Given the description of an element on the screen output the (x, y) to click on. 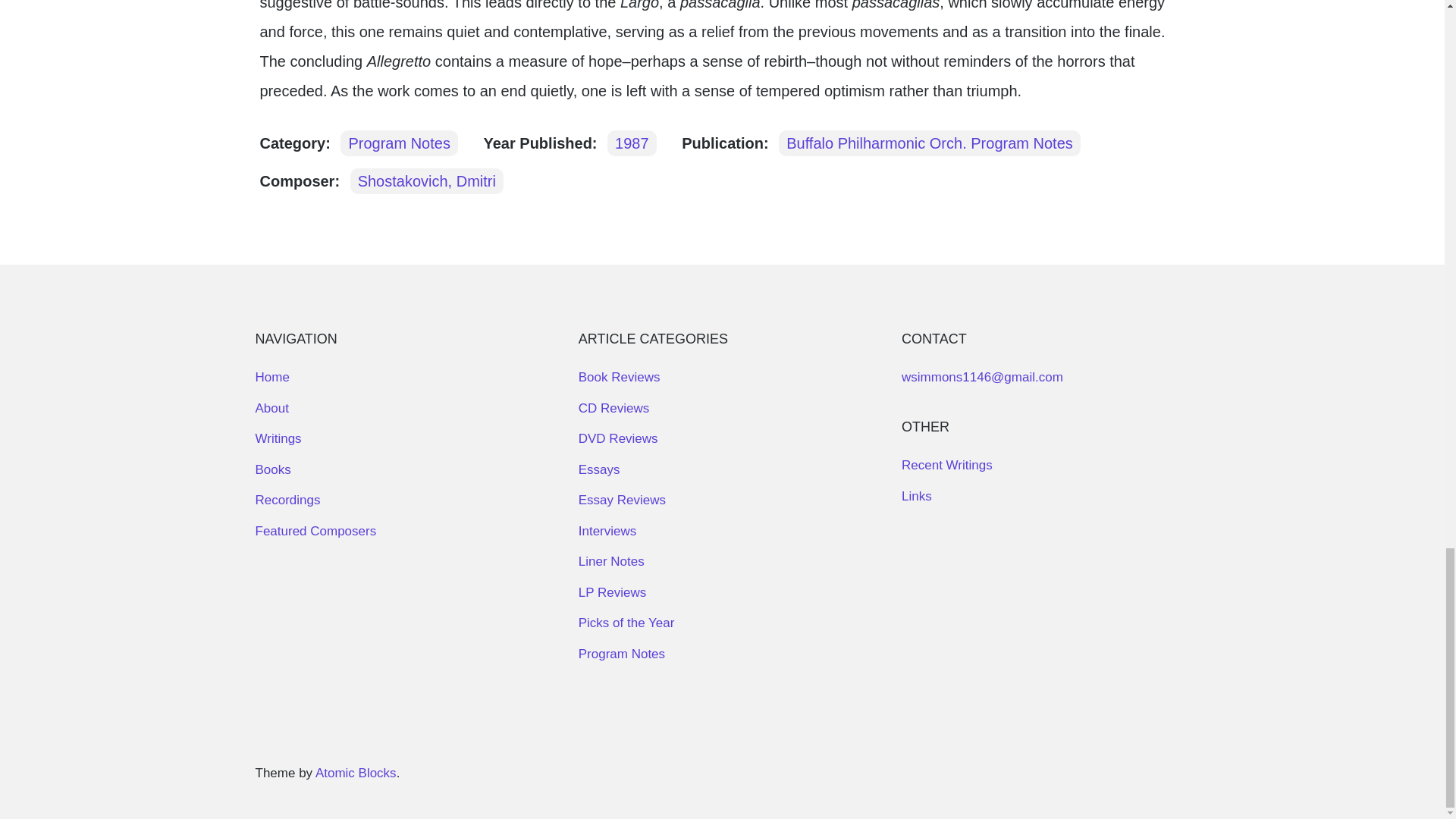
LP Reviews (612, 592)
Essay Reviews (621, 499)
Featured Composers (314, 531)
Shostakovich, Dmitri (426, 181)
1987 (631, 143)
Book Reviews (619, 377)
CD Reviews (613, 408)
Home (271, 377)
Buffalo Philharmonic Orch. Program Notes (929, 143)
Program Notes (621, 653)
